Given the description of an element on the screen output the (x, y) to click on. 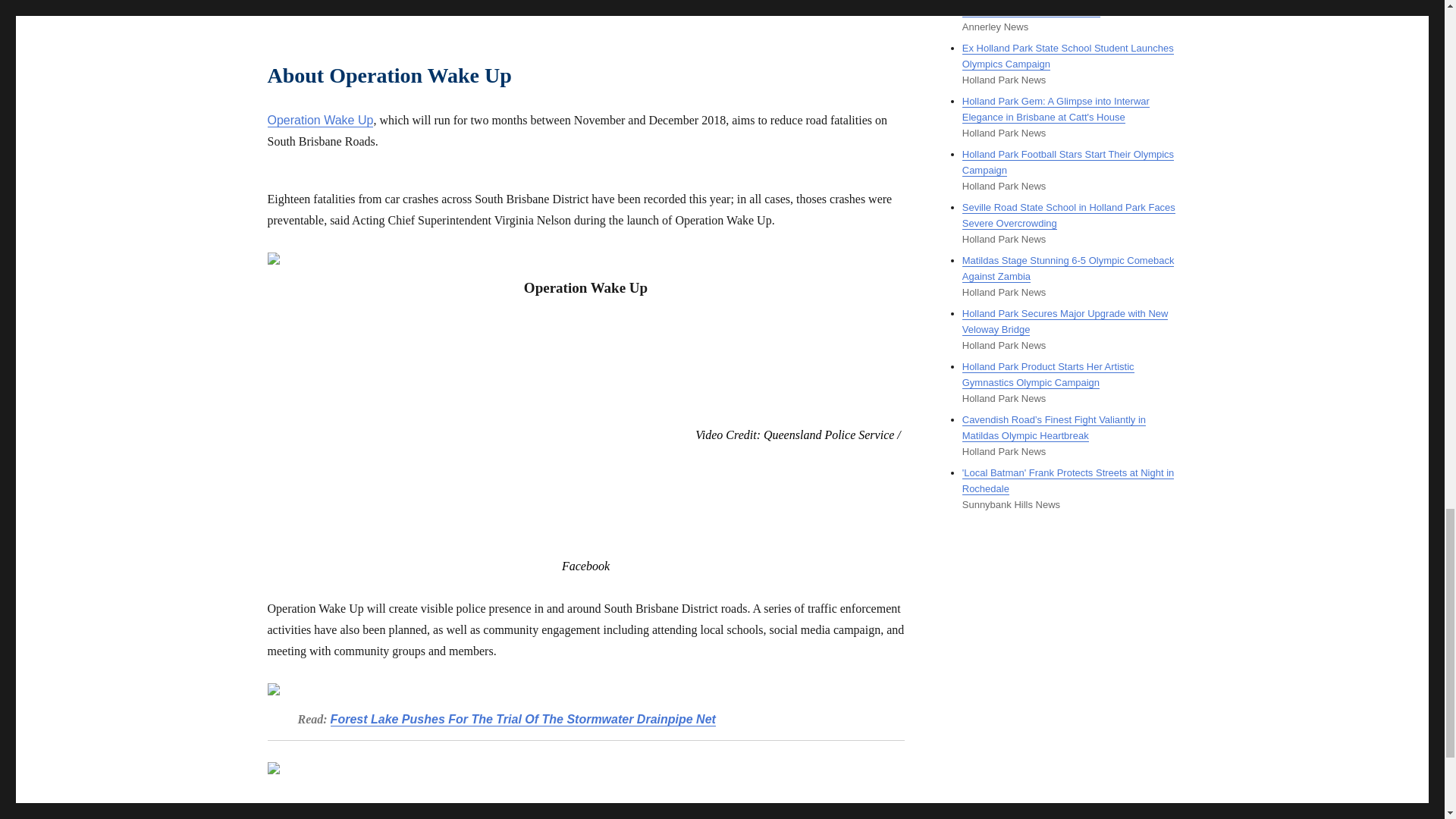
Holland Park Football Stars Start Their Olympics Campaign (1067, 162)
'Local Batman' Frank Protects Streets at Night in Rochedale (1068, 480)
Holland Park Secures Major Upgrade with New Veloway Bridge (1065, 320)
Matildas Stage Stunning 6-5 Olympic Comeback Against Zambia (1068, 267)
Operation Wake Up (319, 119)
